Given the description of an element on the screen output the (x, y) to click on. 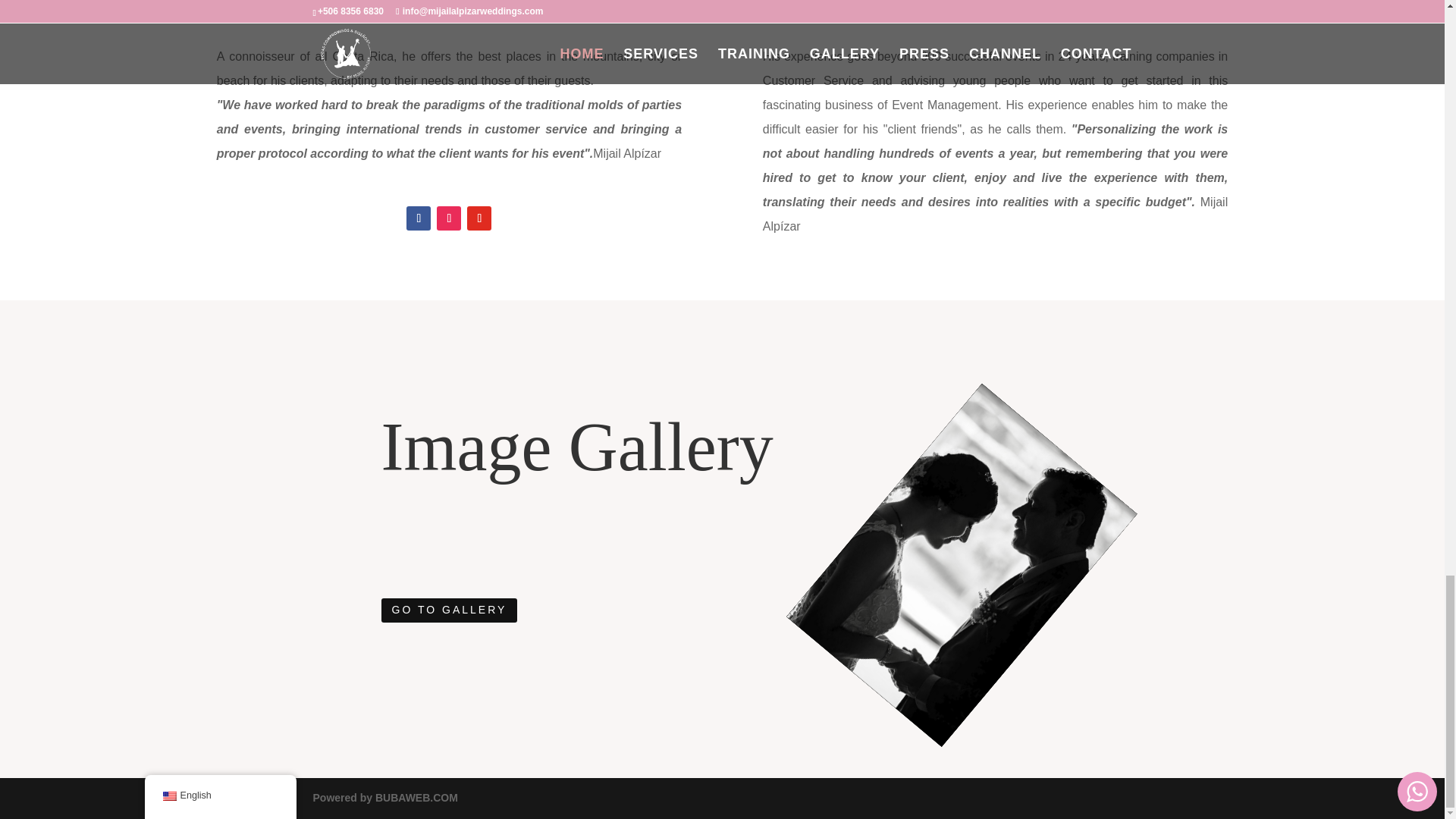
Powered by BUBAWEB.COM (385, 797)
Follow on Youtube (479, 218)
Follow on Facebook (418, 218)
Follow on Instagram (448, 218)
GO TO GALLERY (448, 610)
al1 (888, 535)
